Given the description of an element on the screen output the (x, y) to click on. 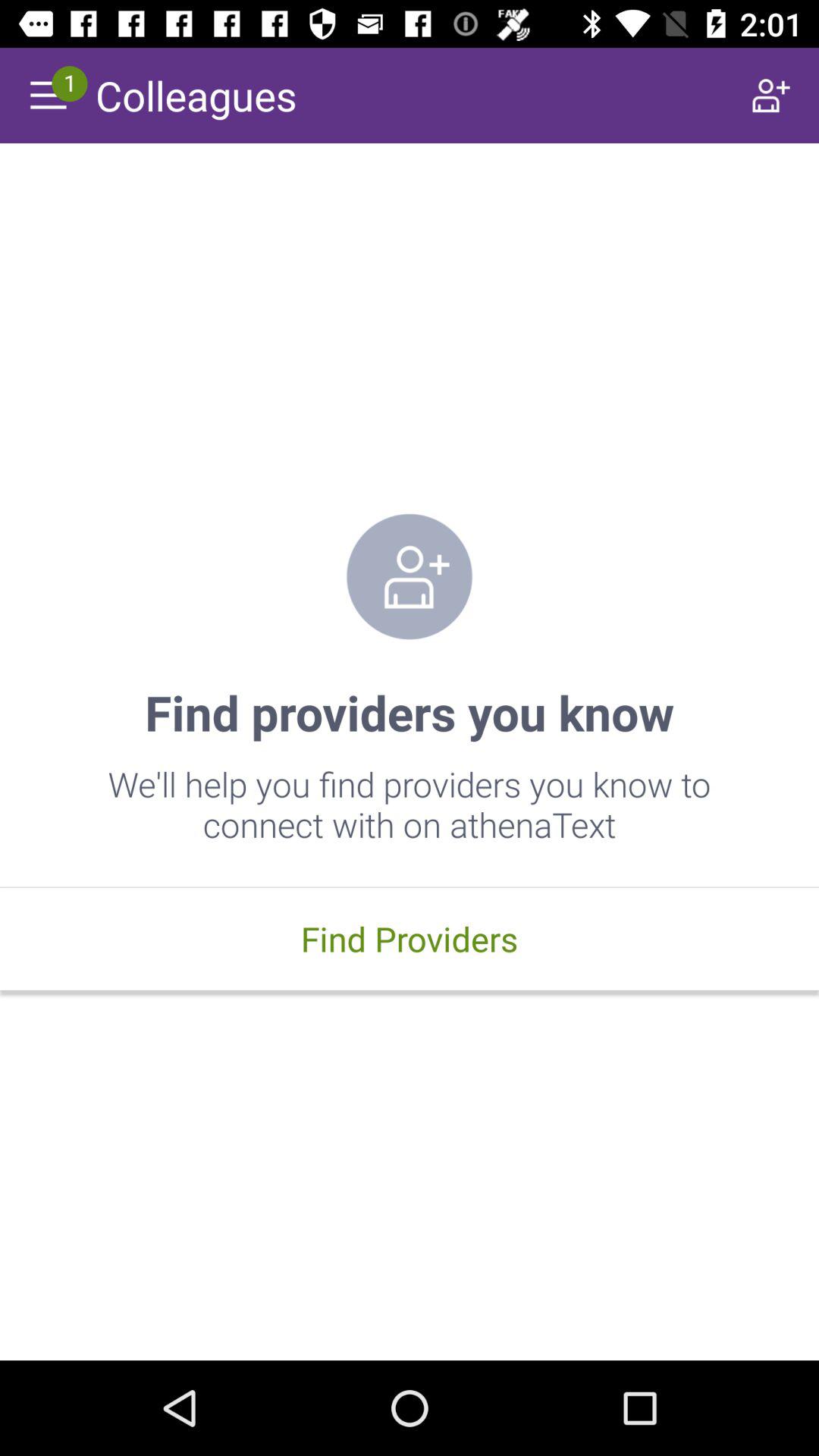
go to menu (47, 95)
